Given the description of an element on the screen output the (x, y) to click on. 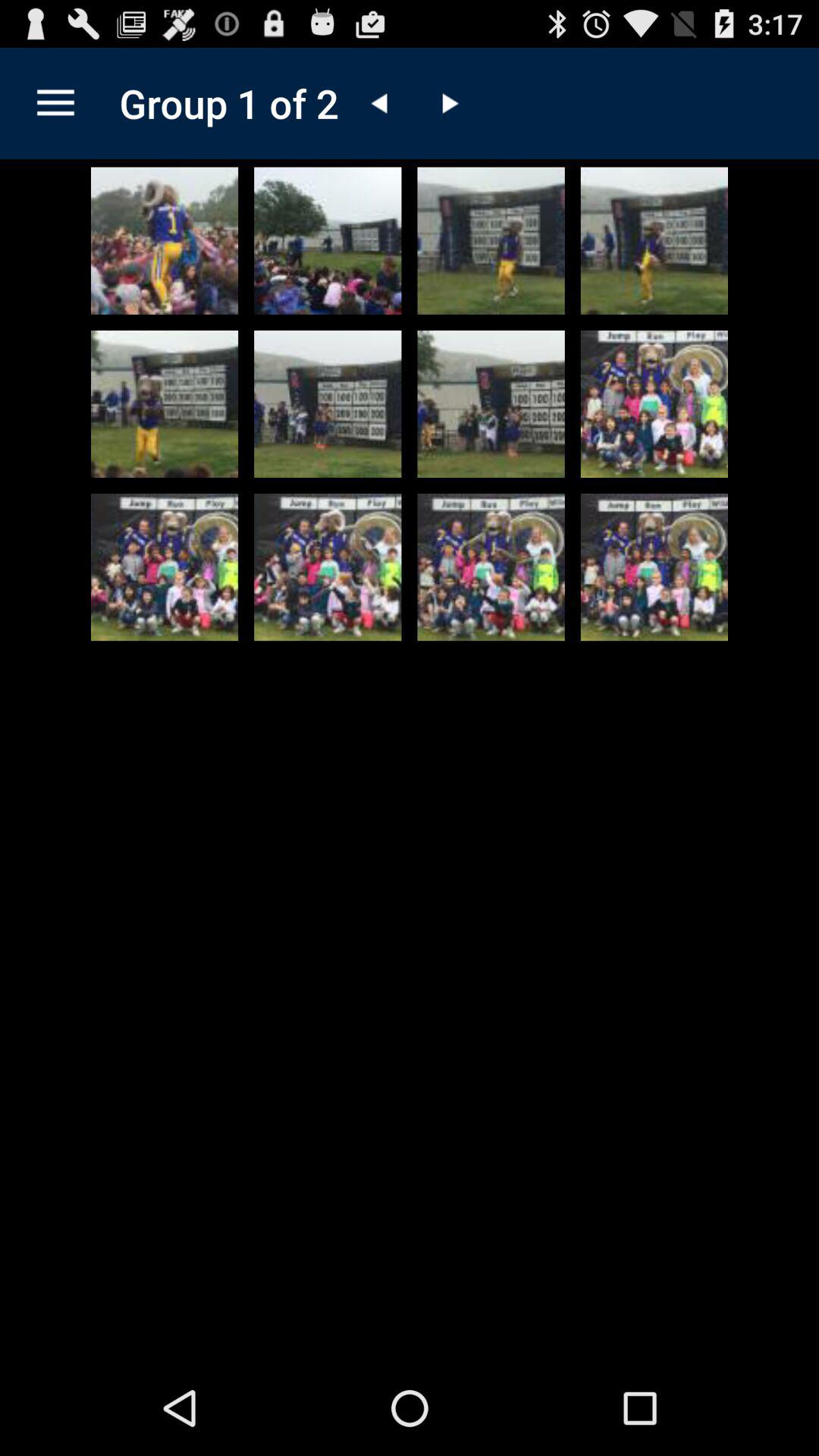
picture (654, 403)
